Given the description of an element on the screen output the (x, y) to click on. 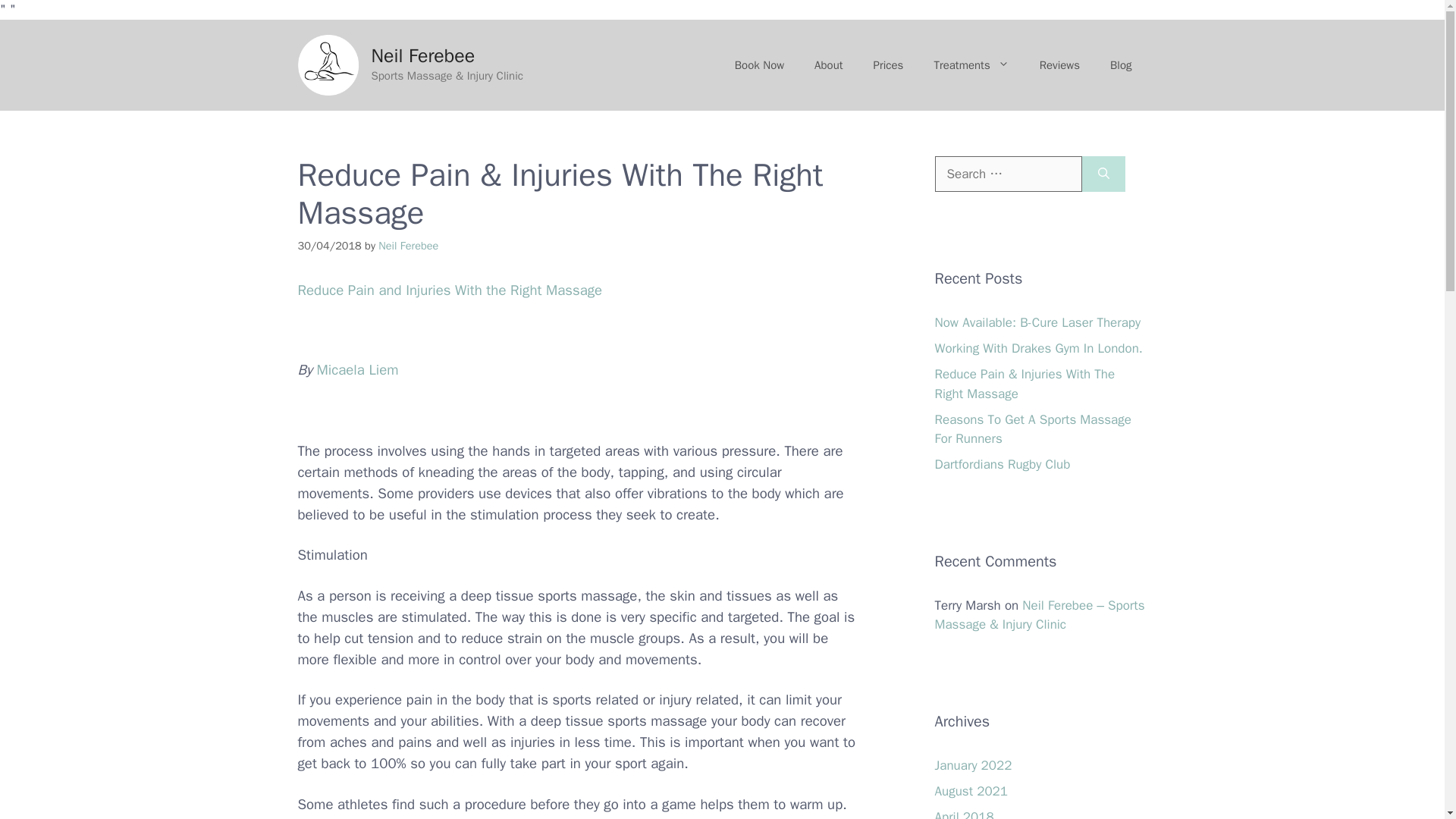
Now Available: B-Cure Laser Therapy (1037, 322)
Reduce Pain and Injuries With the Right Massage (449, 290)
Treatments (970, 64)
April 2018 (963, 813)
View all posts by Neil Ferebee (408, 244)
About (828, 64)
Reviews (1059, 64)
Neil Ferebee (423, 55)
Prices (888, 64)
Working With Drakes Gym In London. (1037, 348)
August 2021 (970, 790)
Book Now (759, 64)
Neil Ferebee (408, 244)
Dartfordians Rugby Club (1002, 464)
Blog (1120, 64)
